Given the description of an element on the screen output the (x, y) to click on. 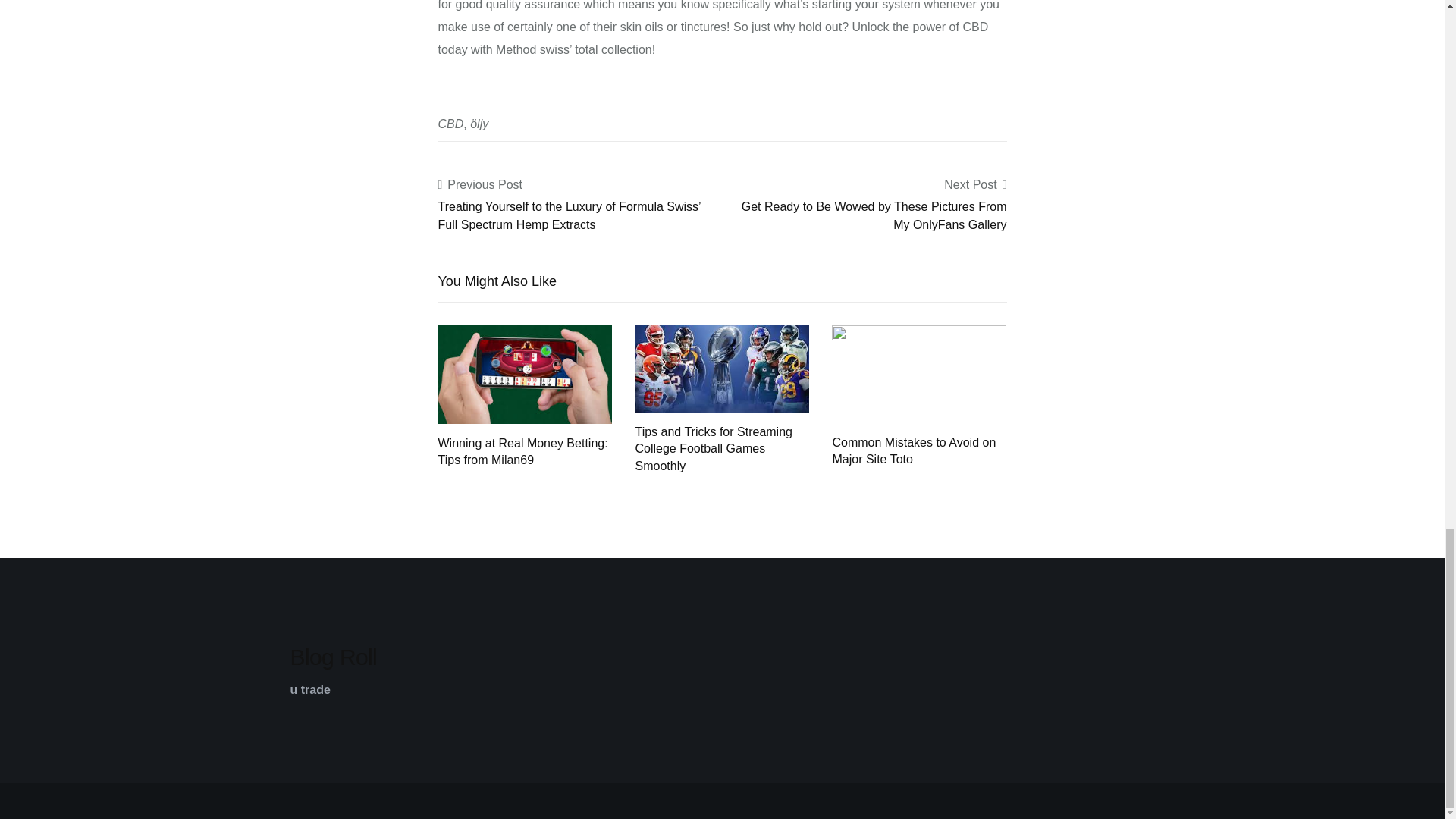
CBD (451, 123)
Common Mistakes to Avoid on Major Site Toto (913, 450)
Winning at Real Money Betting: Tips from Milan69 (523, 451)
Winning at Real Money Betting: Tips from Milan69 (525, 373)
Common Mistakes to Avoid on Major Site Toto (918, 373)
u trade (309, 689)
